Given the description of an element on the screen output the (x, y) to click on. 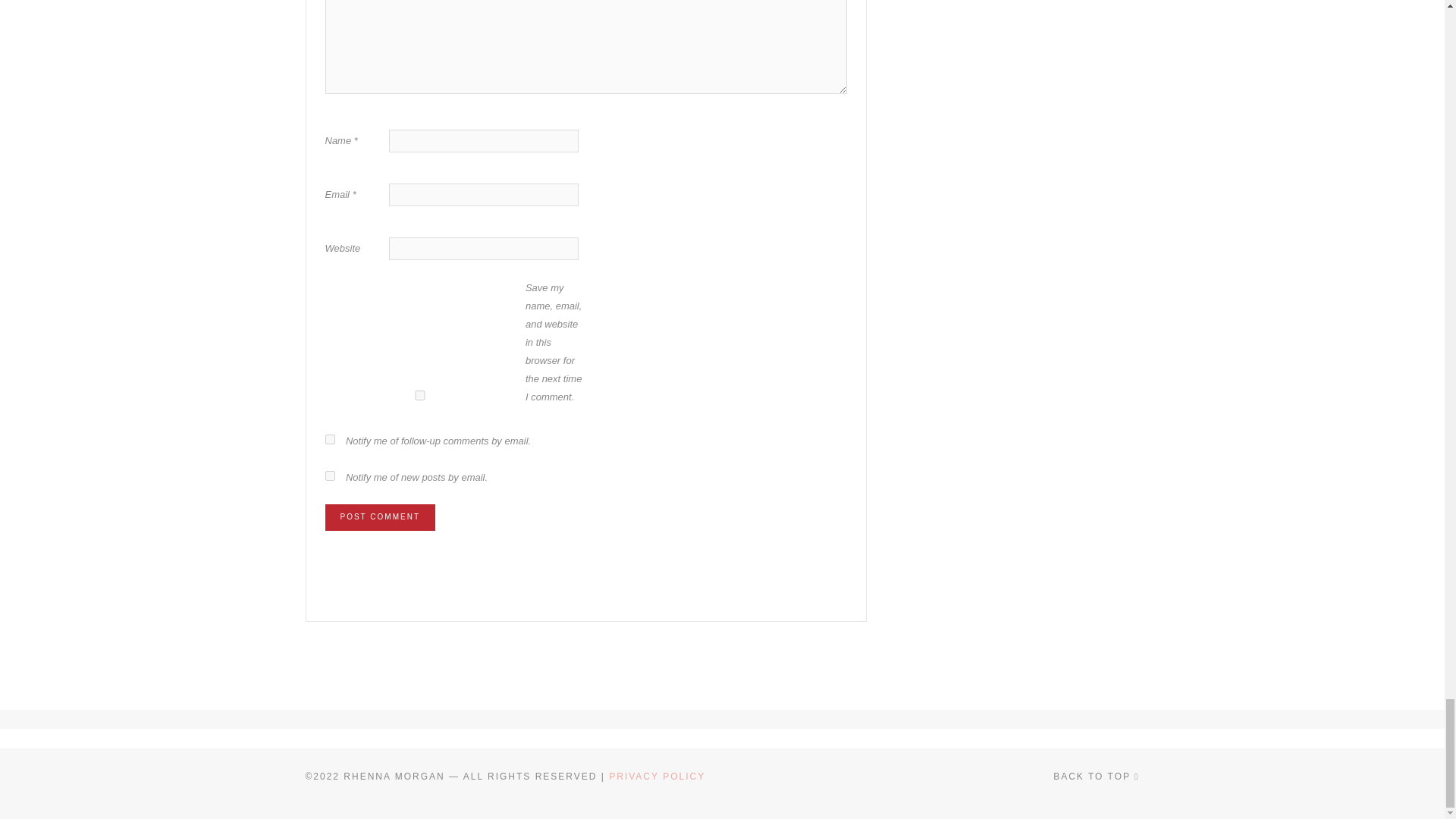
subscribe (329, 439)
yes (418, 395)
Post Comment (378, 517)
subscribe (329, 475)
